Given the description of an element on the screen output the (x, y) to click on. 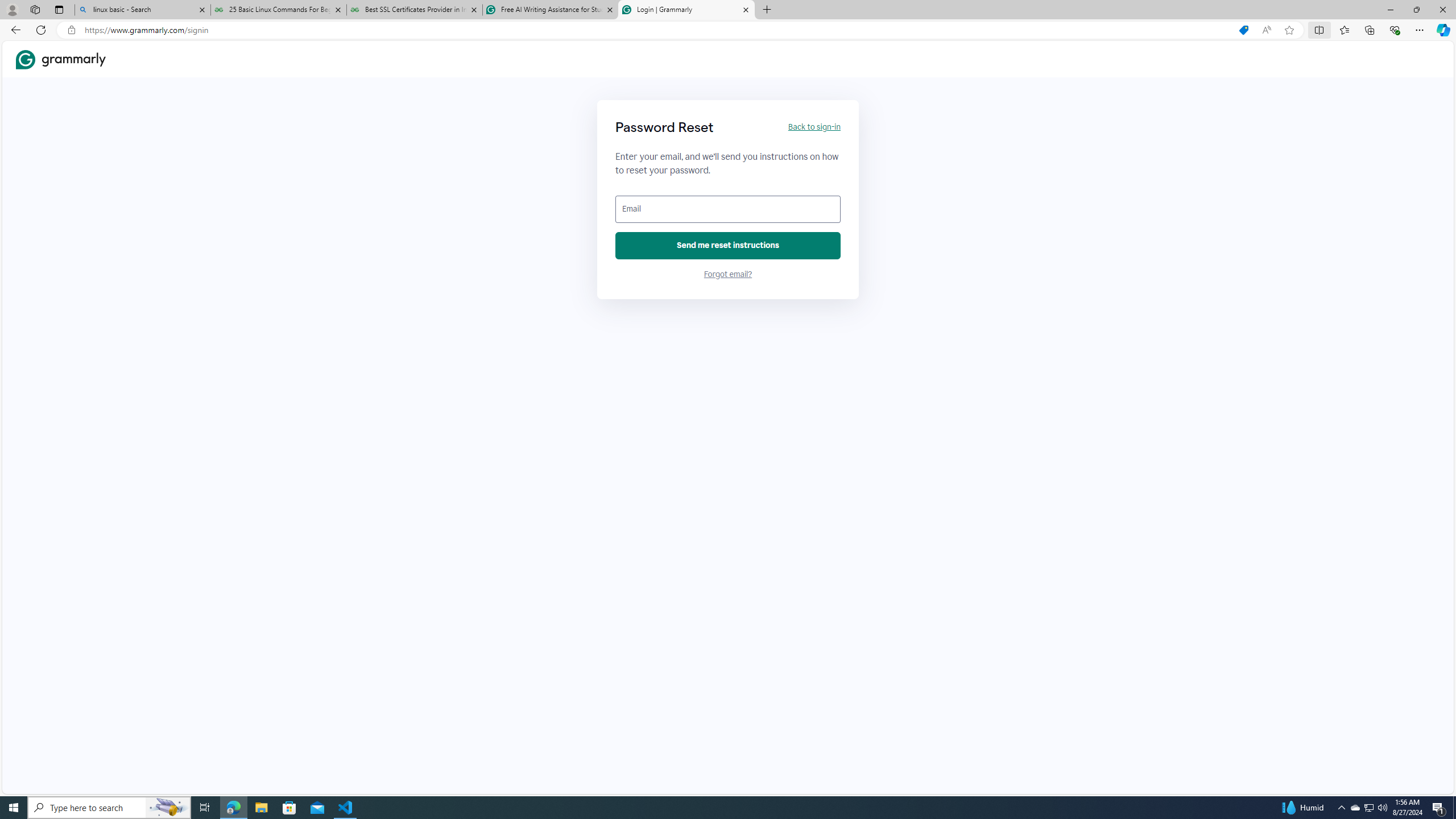
Send me reset instructions (727, 245)
